Given the description of an element on the screen output the (x, y) to click on. 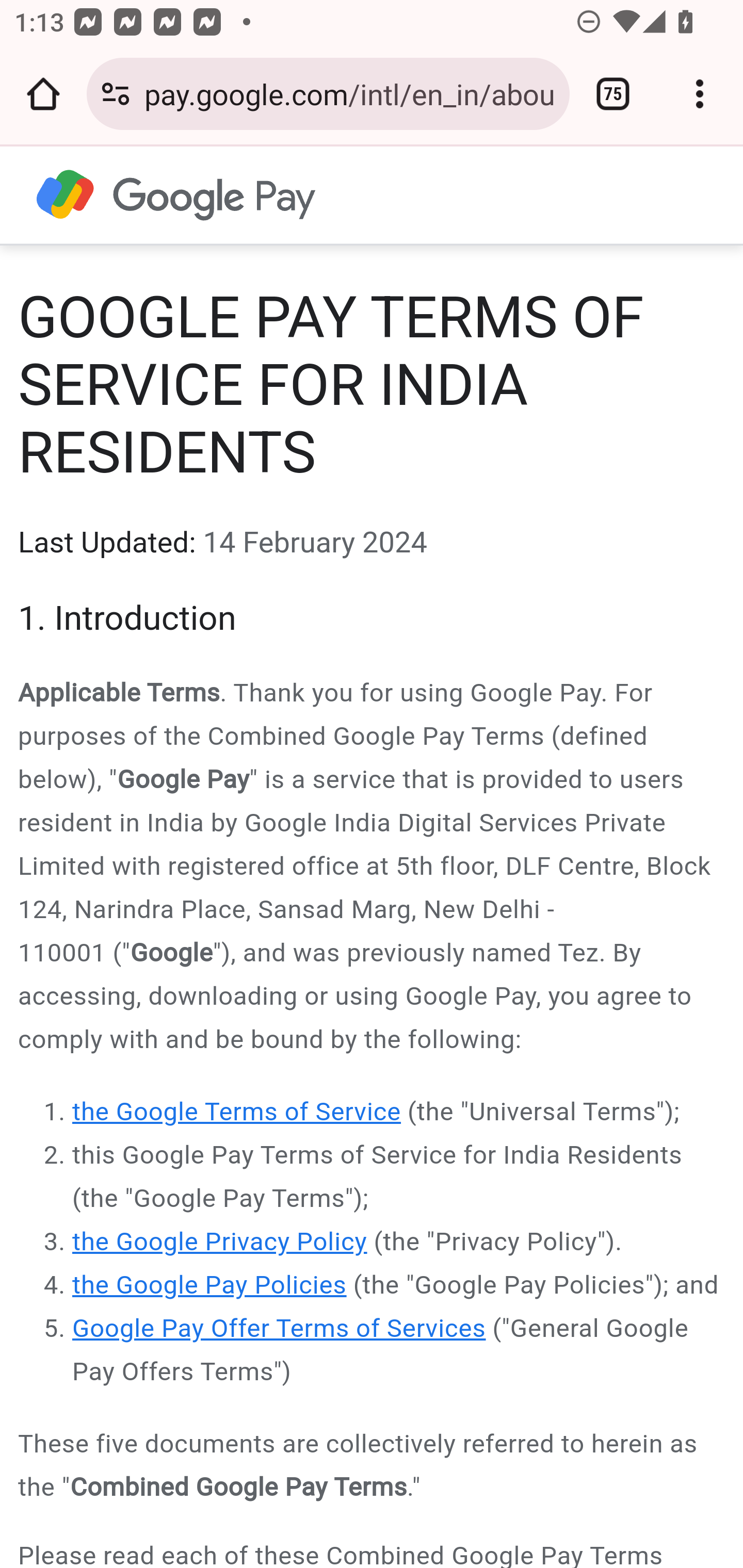
Open the home page (43, 93)
Connection is secure (115, 93)
Switch or close tabs (612, 93)
Customize and control Google Chrome (699, 93)
pay.google.com/intl/en_in/about/terms/ (349, 92)
about (177, 194)
the Google Terms of Service (237, 1112)
the Google Privacy Policy (220, 1242)
the Google Pay Policies (210, 1286)
Google Pay Offer Terms of Services (279, 1329)
